Given the description of an element on the screen output the (x, y) to click on. 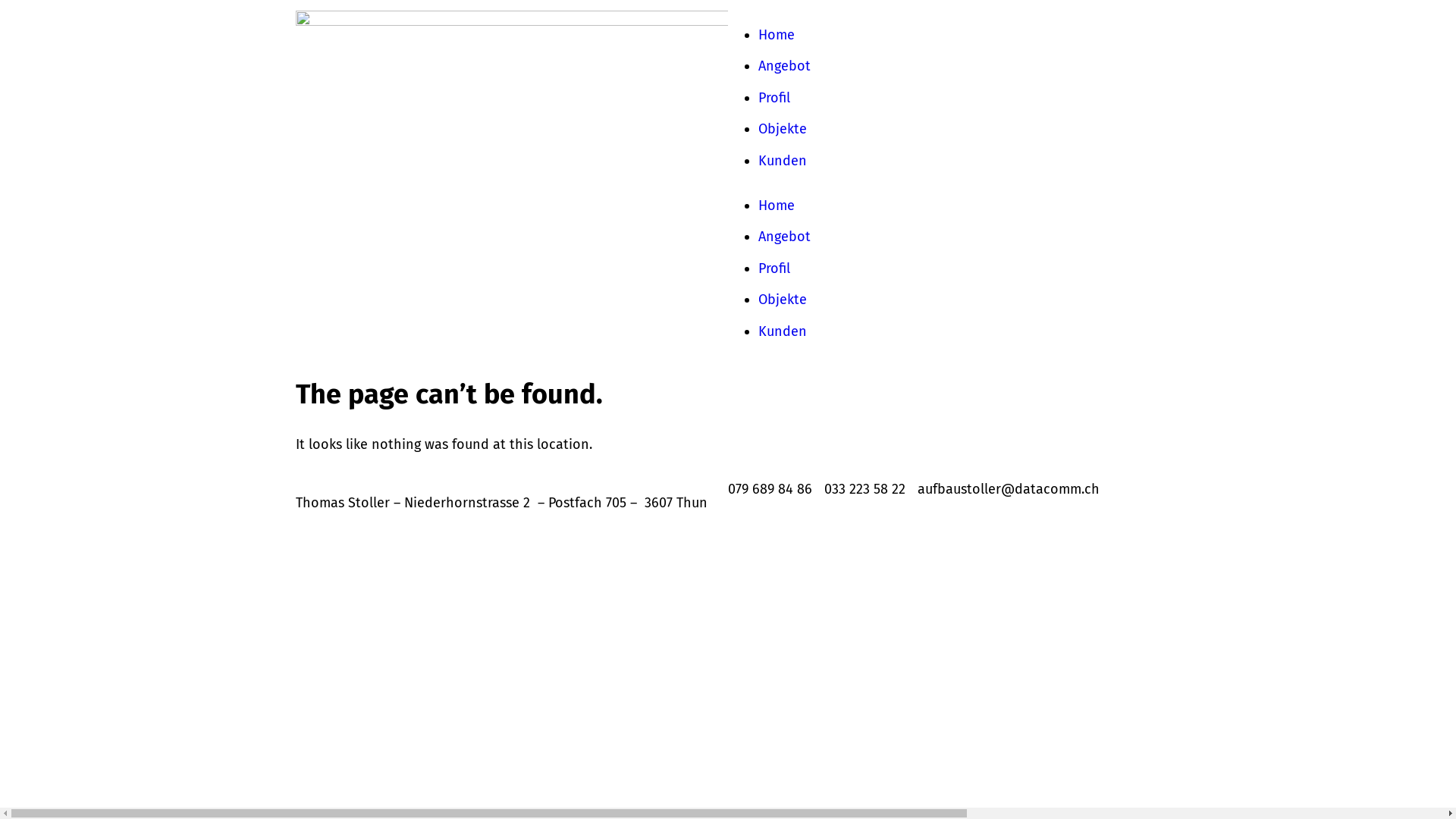
Kunden Element type: text (782, 160)
Angebot Element type: text (784, 65)
Angebot Element type: text (784, 236)
Objekte Element type: text (782, 299)
Kunden Element type: text (782, 331)
Profil Element type: text (774, 97)
Profil Element type: text (774, 268)
Home Element type: text (776, 205)
Objekte Element type: text (782, 128)
Home Element type: text (776, 34)
